Given the description of an element on the screen output the (x, y) to click on. 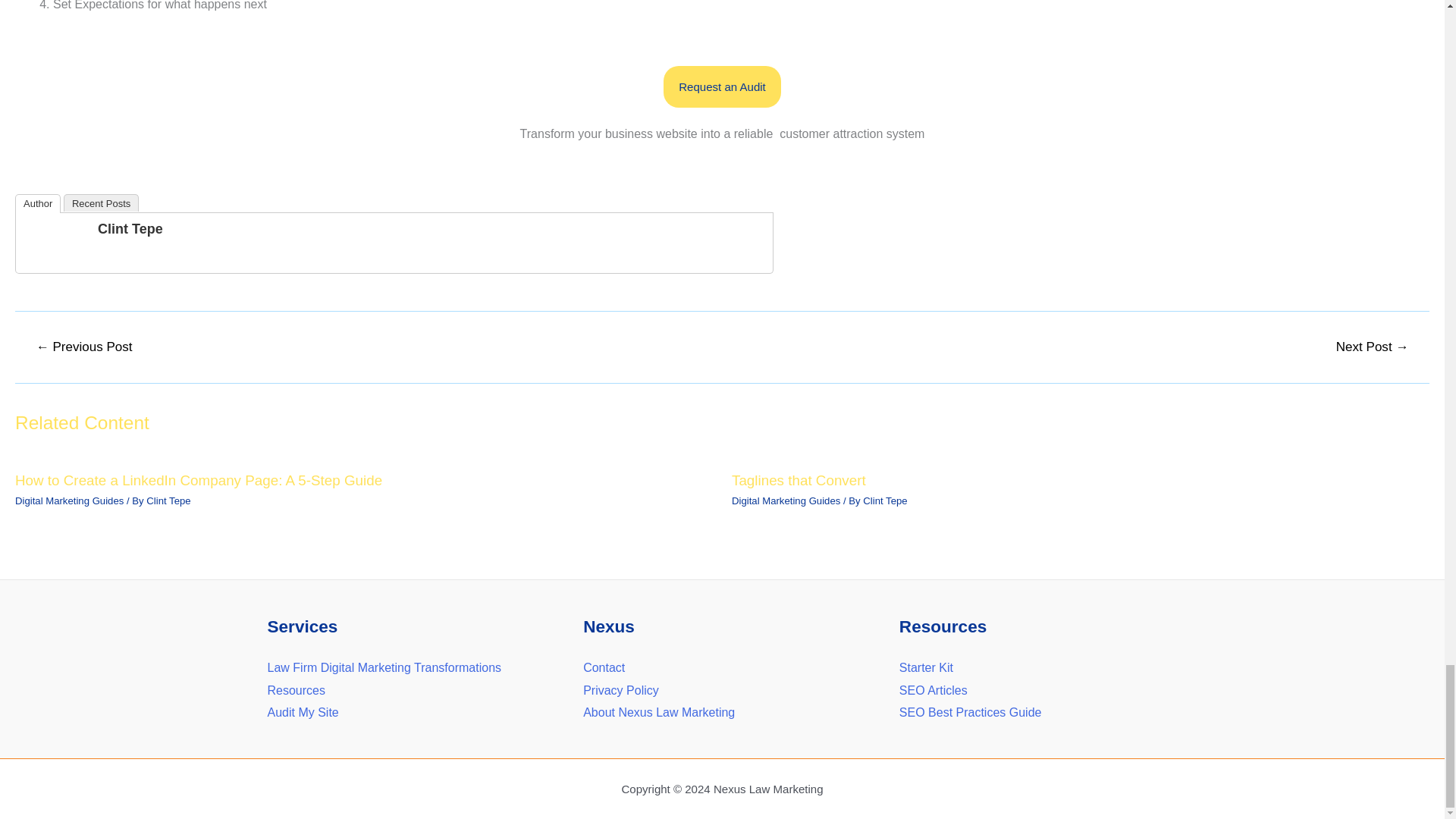
View all posts by Clint Tepe (168, 500)
Request an Audit (721, 86)
Recent Posts (101, 202)
Clint Tepe (130, 228)
View all posts by Clint Tepe (885, 500)
Author (37, 203)
